Given the description of an element on the screen output the (x, y) to click on. 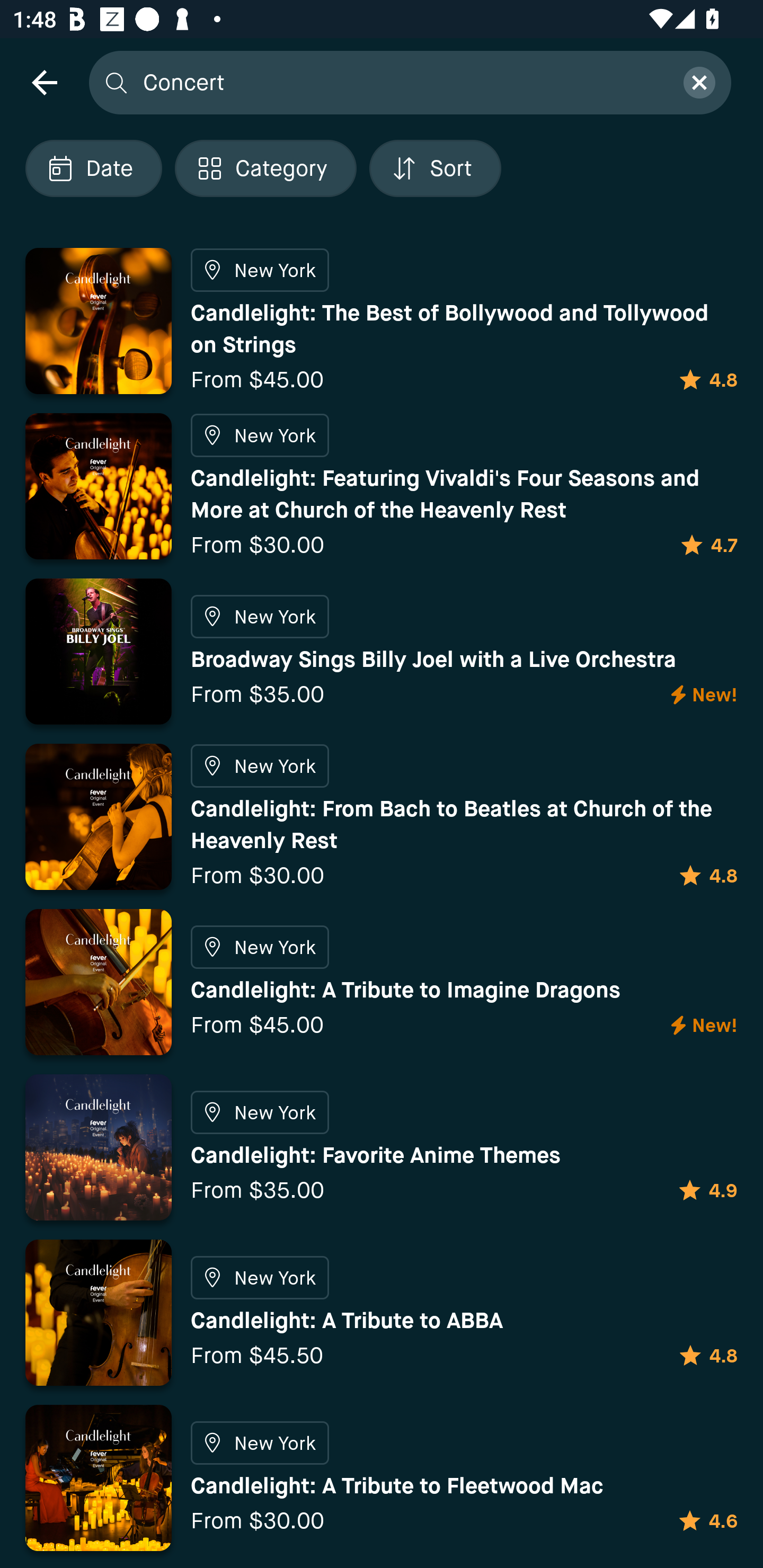
navigation icon (44, 81)
Concert (402, 81)
Localized description Date (93, 168)
Localized description Category (265, 168)
Localized description Sort (435, 168)
